Given the description of an element on the screen output the (x, y) to click on. 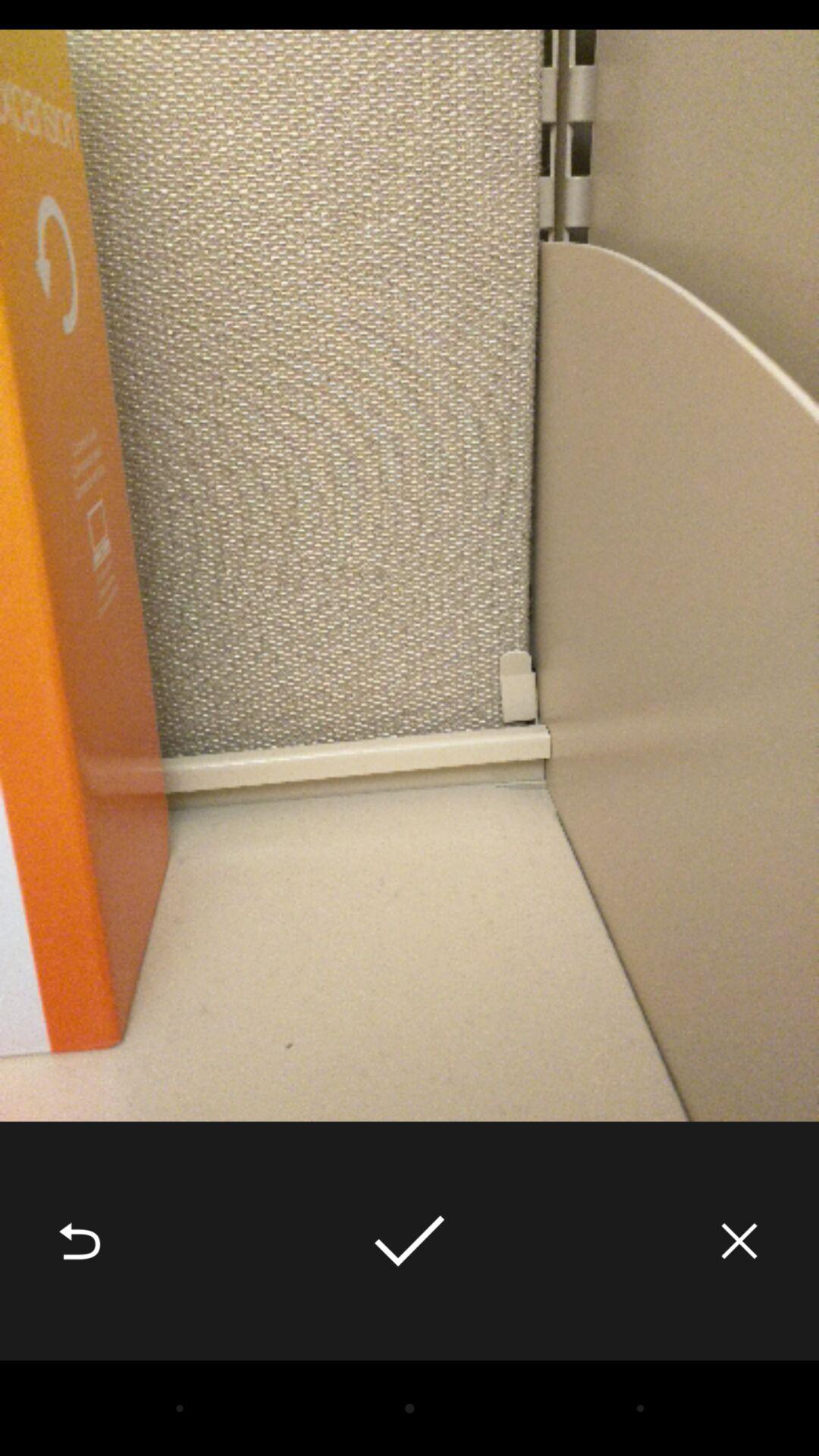
click item at the bottom right corner (739, 1240)
